Given the description of an element on the screen output the (x, y) to click on. 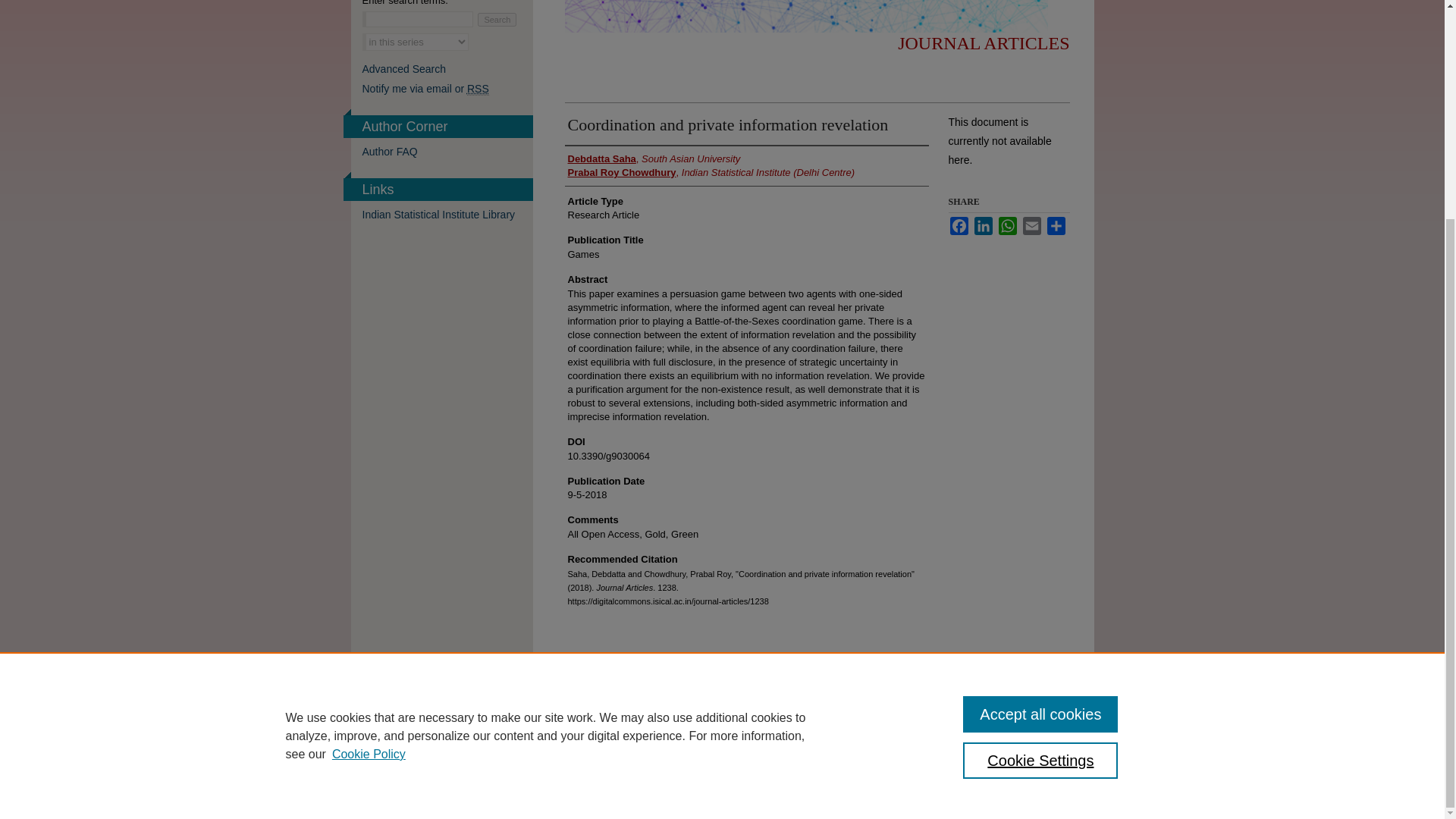
Search (496, 19)
Email or RSS Notifications (447, 88)
Author FAQ (447, 151)
Search (496, 19)
About (613, 782)
Share (1055, 226)
WhatsApp (1006, 226)
Really Simple Syndication (478, 88)
Facebook (958, 226)
Indian Statistical Institute Library (447, 214)
JOURNAL ARTICLES (983, 43)
Author FAQ (447, 151)
Notify me via email or RSS (447, 88)
Debdatta Saha, South Asian University (653, 159)
Search (496, 19)
